Given the description of an element on the screen output the (x, y) to click on. 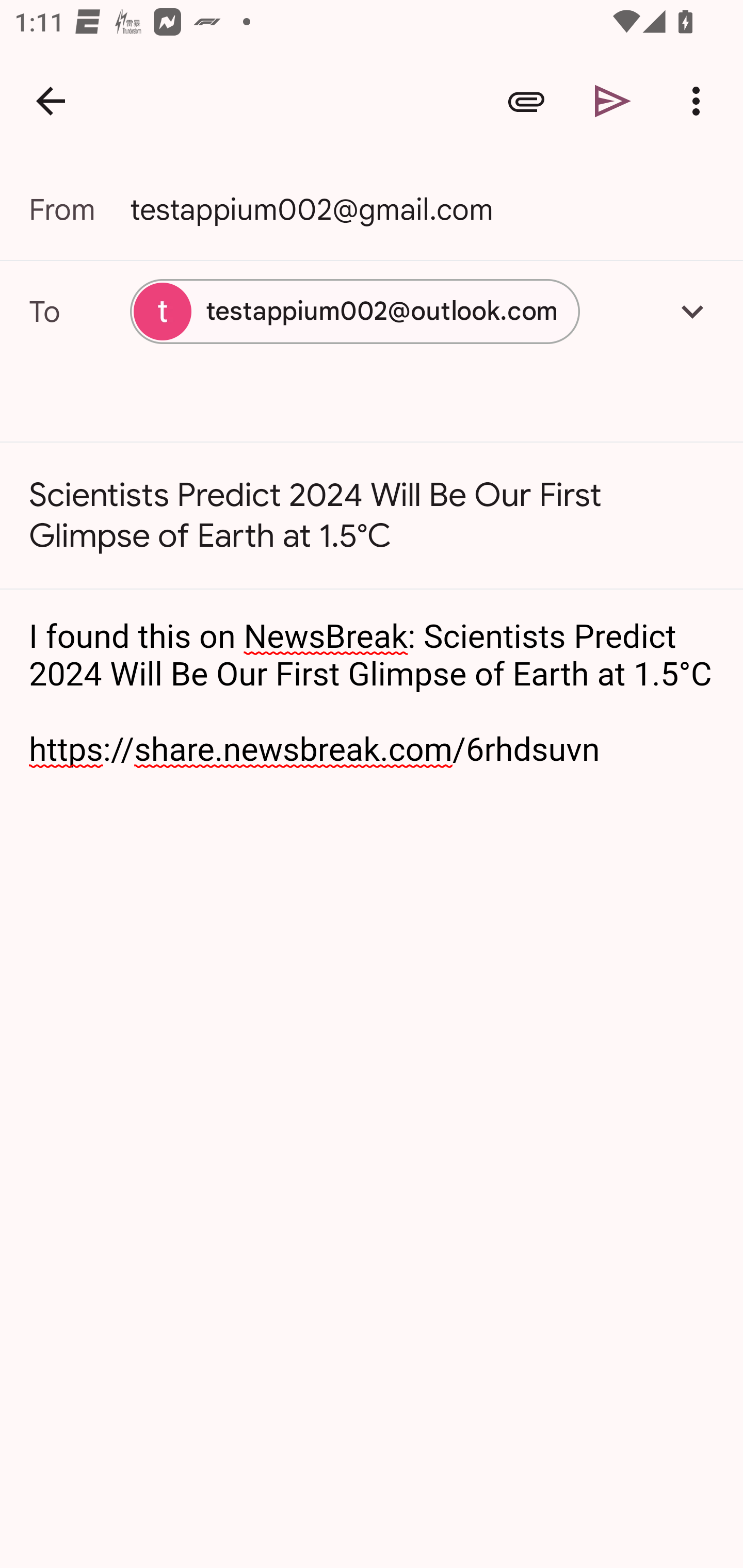
Navigate up (50, 101)
Attach file (525, 101)
Send (612, 101)
More options (699, 101)
From (79, 209)
Add Cc/Bcc (692, 311)
